Given the description of an element on the screen output the (x, y) to click on. 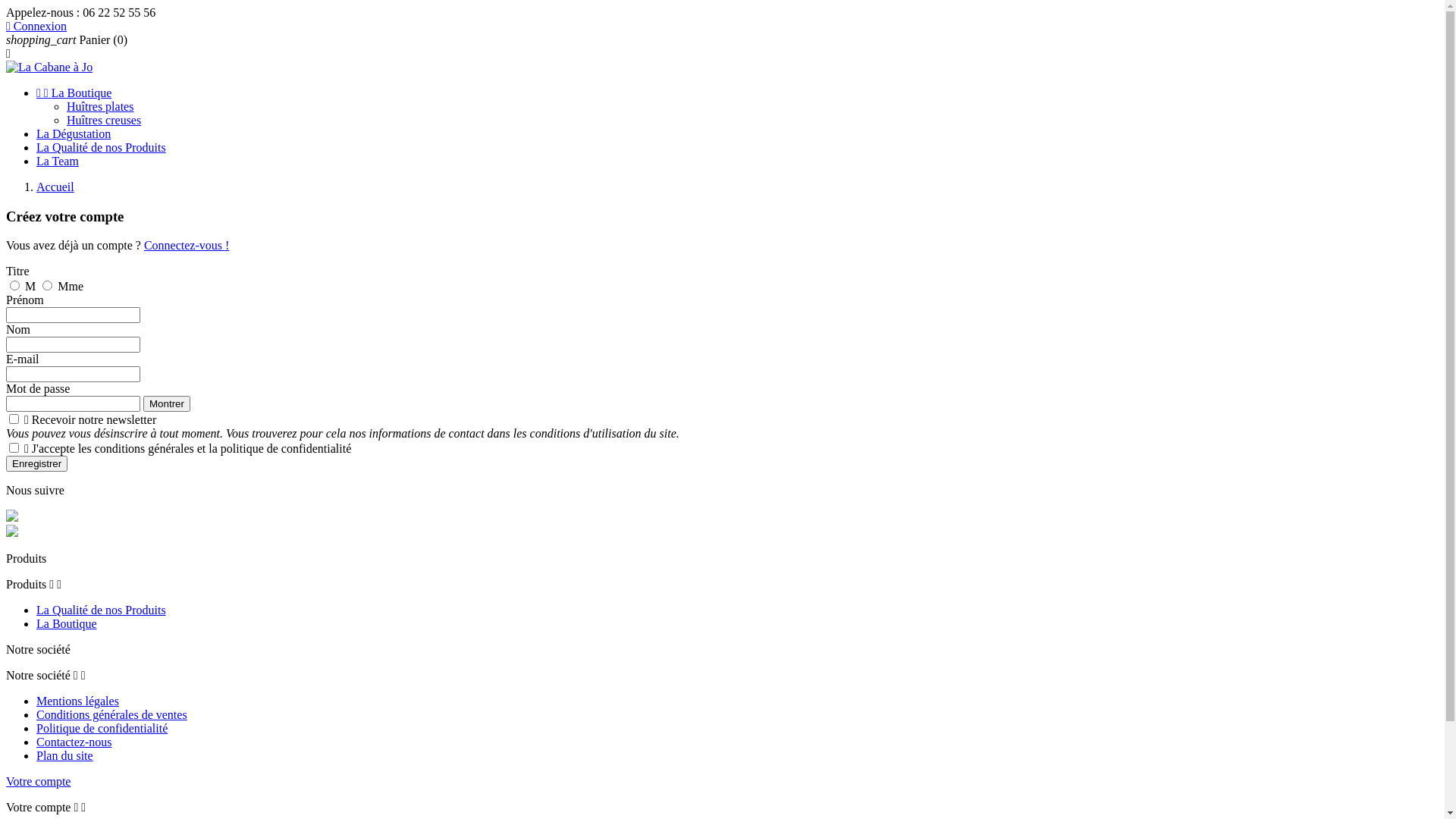
Accueil Element type: text (55, 186)
Contactez-nous Element type: text (74, 741)
Connectez-vous ! Element type: text (186, 244)
Montrer Element type: text (166, 403)
Plan du site Element type: text (64, 755)
La Team Element type: text (57, 160)
Votre compte Element type: text (38, 781)
Enregistrer Element type: text (36, 463)
La Boutique Element type: text (66, 623)
